Given the description of an element on the screen output the (x, y) to click on. 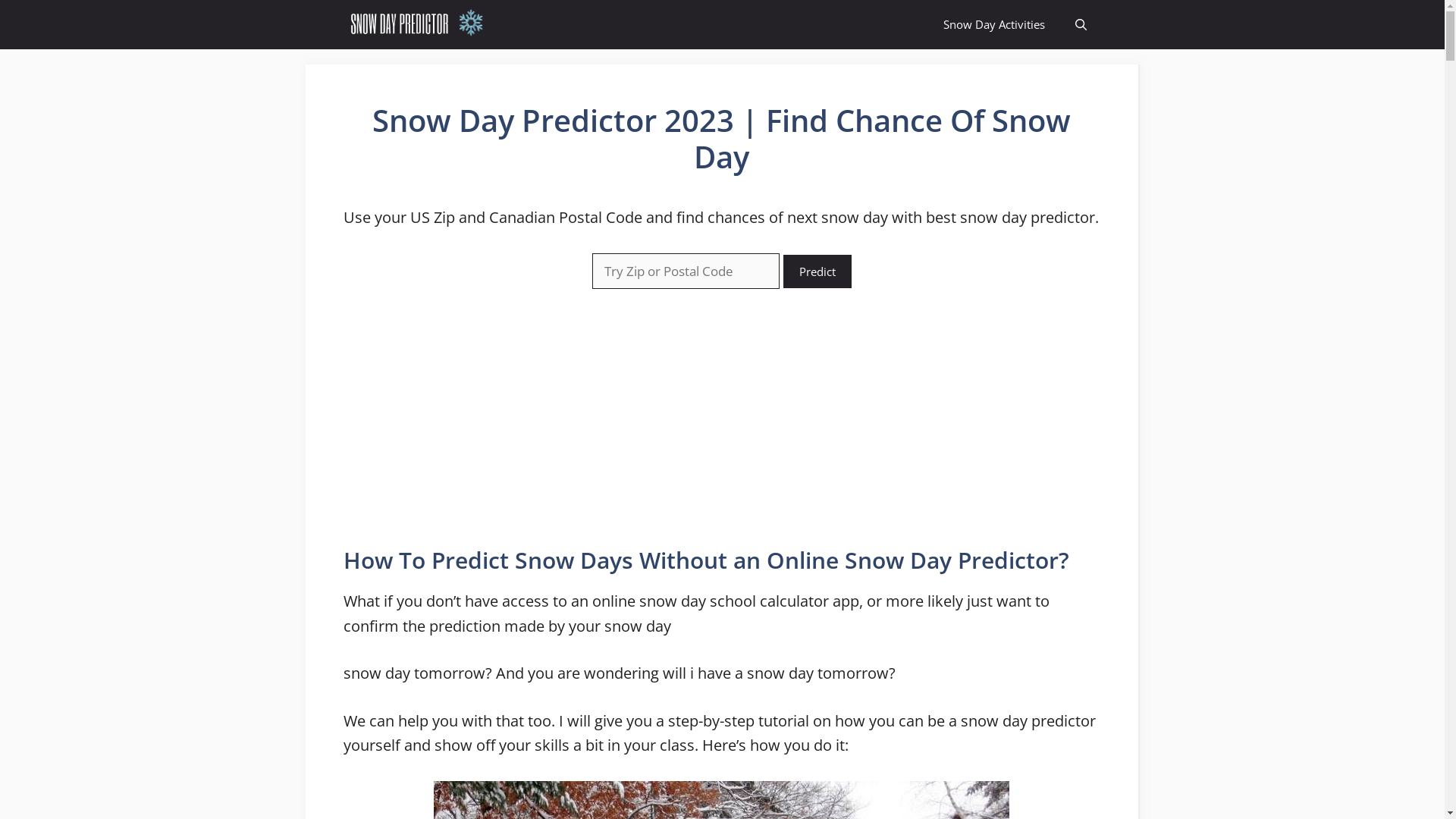
Snow Day Activities Element type: text (994, 24)
Advertisement Element type: hover (720, 417)
Advertisement Element type: hover (1200, 276)
Snow Day Predictor 2023 Element type: hover (418, 24)
Predict Element type: text (816, 271)
Advertisement Element type: hover (244, 276)
